Given the description of an element on the screen output the (x, y) to click on. 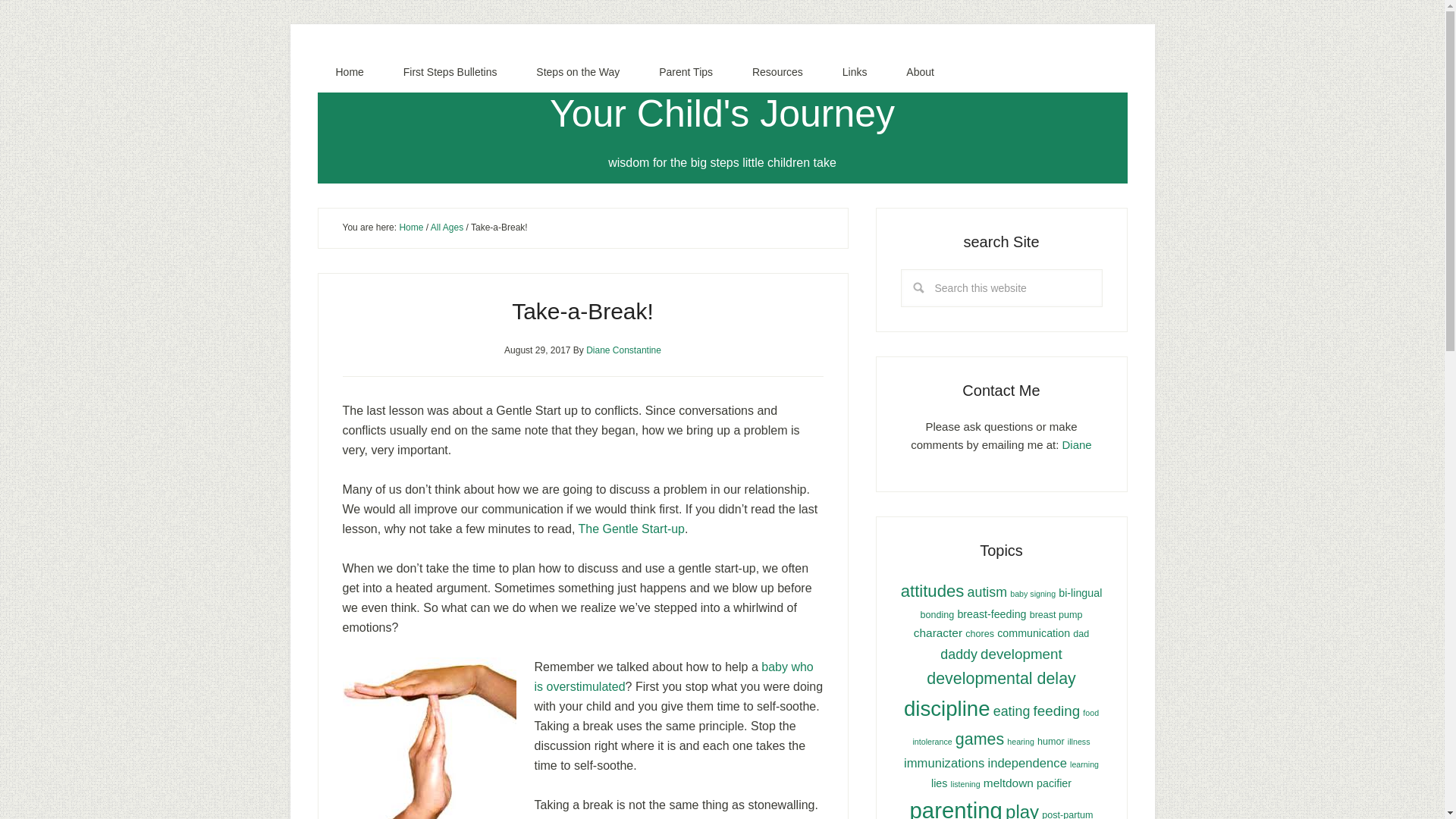
Links (854, 71)
Your Child's Journey (722, 113)
Resources (777, 71)
Home (410, 226)
First Steps Bulletins (450, 71)
Home (349, 71)
Diane Constantine (623, 348)
baby who is overstimulated (673, 676)
All Ages (446, 226)
Parent Tips (685, 71)
Steps on the Way (577, 71)
About (920, 71)
The Gentle Start-up (631, 528)
